Given the description of an element on the screen output the (x, y) to click on. 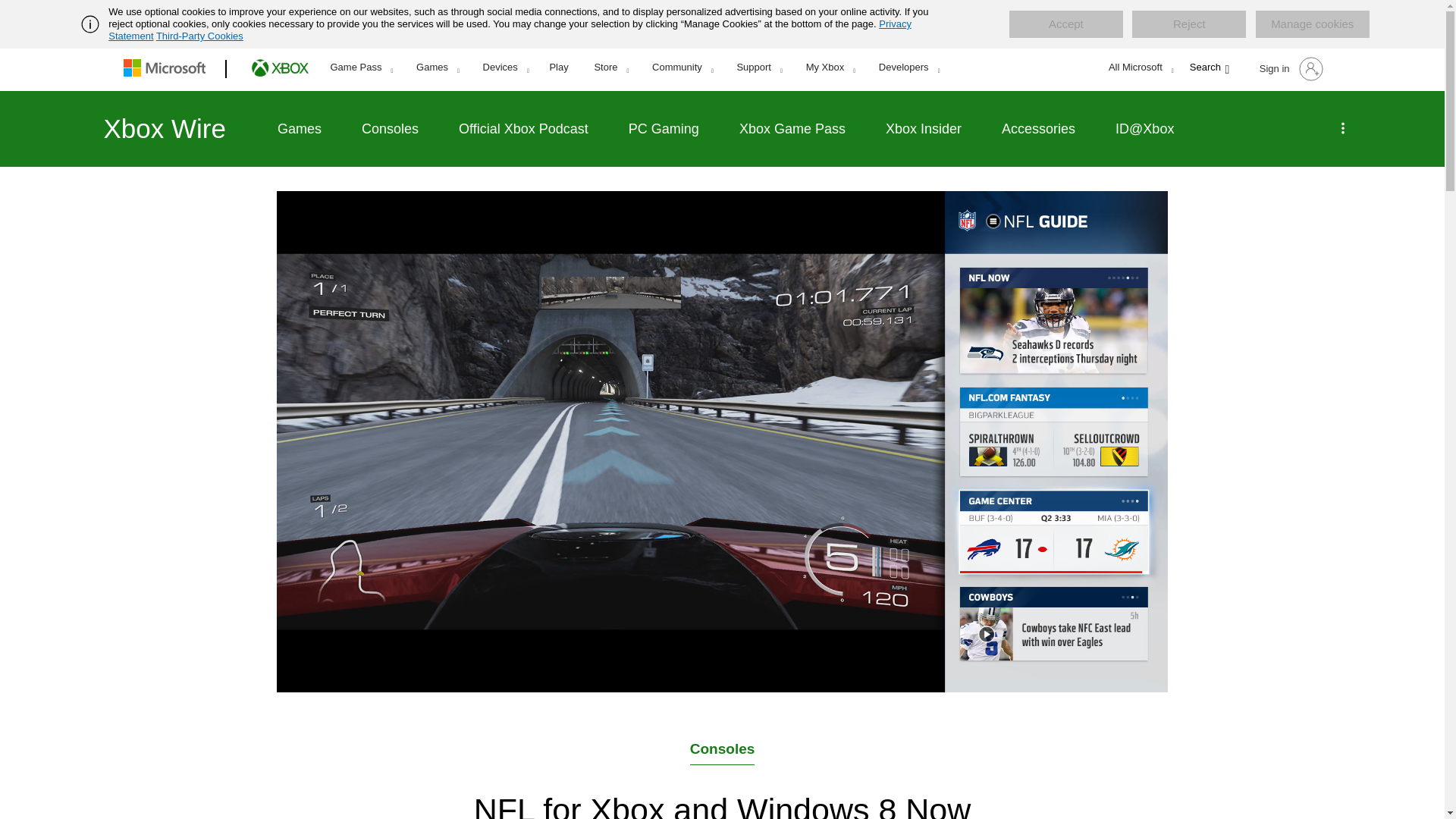
Third-Party Cookies (199, 35)
Manage cookies (1312, 23)
Microsoft (167, 69)
Devices (505, 67)
Game Pass (360, 67)
Games (437, 67)
Accept (1065, 23)
Reject (1189, 23)
Privacy Statement (509, 29)
